Given the description of an element on the screen output the (x, y) to click on. 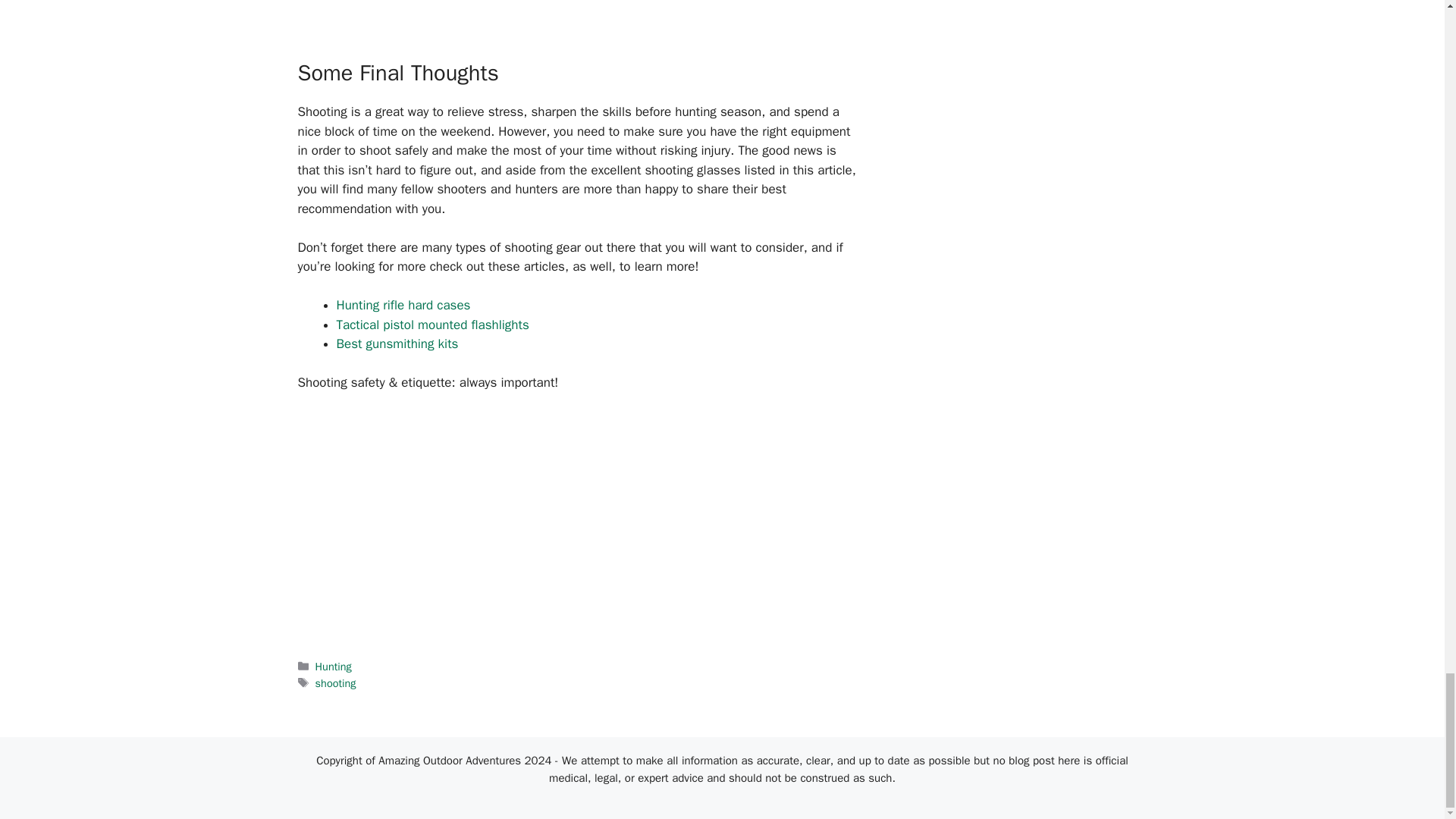
Hunting (333, 666)
shooting (335, 683)
Tactical pistol mounted flashlights (432, 324)
Hunting rifle hard cases (403, 304)
Best gunsmithing kits (397, 343)
